Given the description of an element on the screen output the (x, y) to click on. 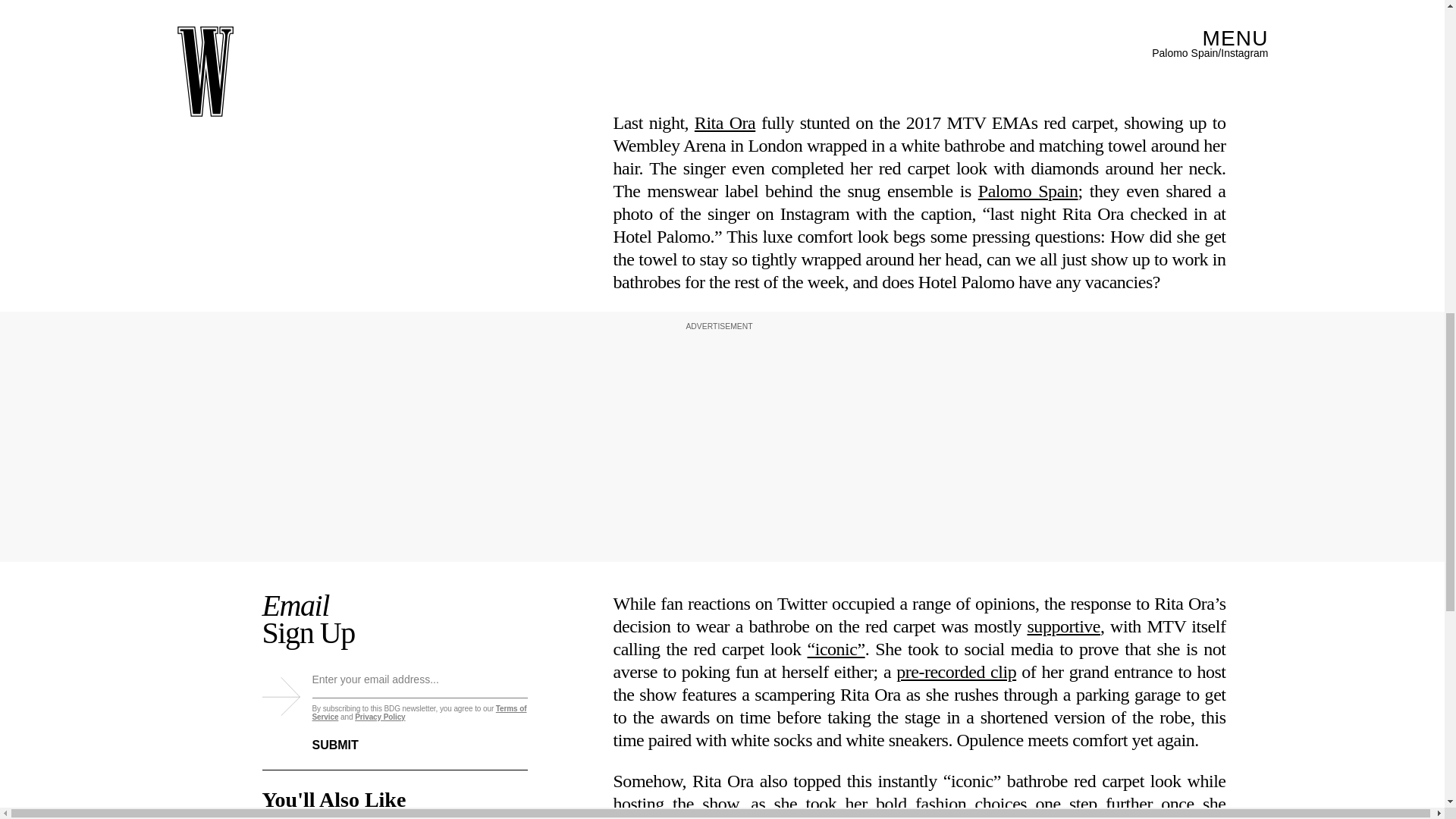
oversized checkered suit (1134, 631)
pre-recorded clip (956, 390)
Terms of Service (420, 718)
Palomo Spain (1028, 189)
SUBMIT (347, 741)
Oscars (774, 745)
Privacy Policy (379, 722)
supportive (1063, 344)
Rita Ora (724, 121)
very large gardening tool (918, 556)
